Given the description of an element on the screen output the (x, y) to click on. 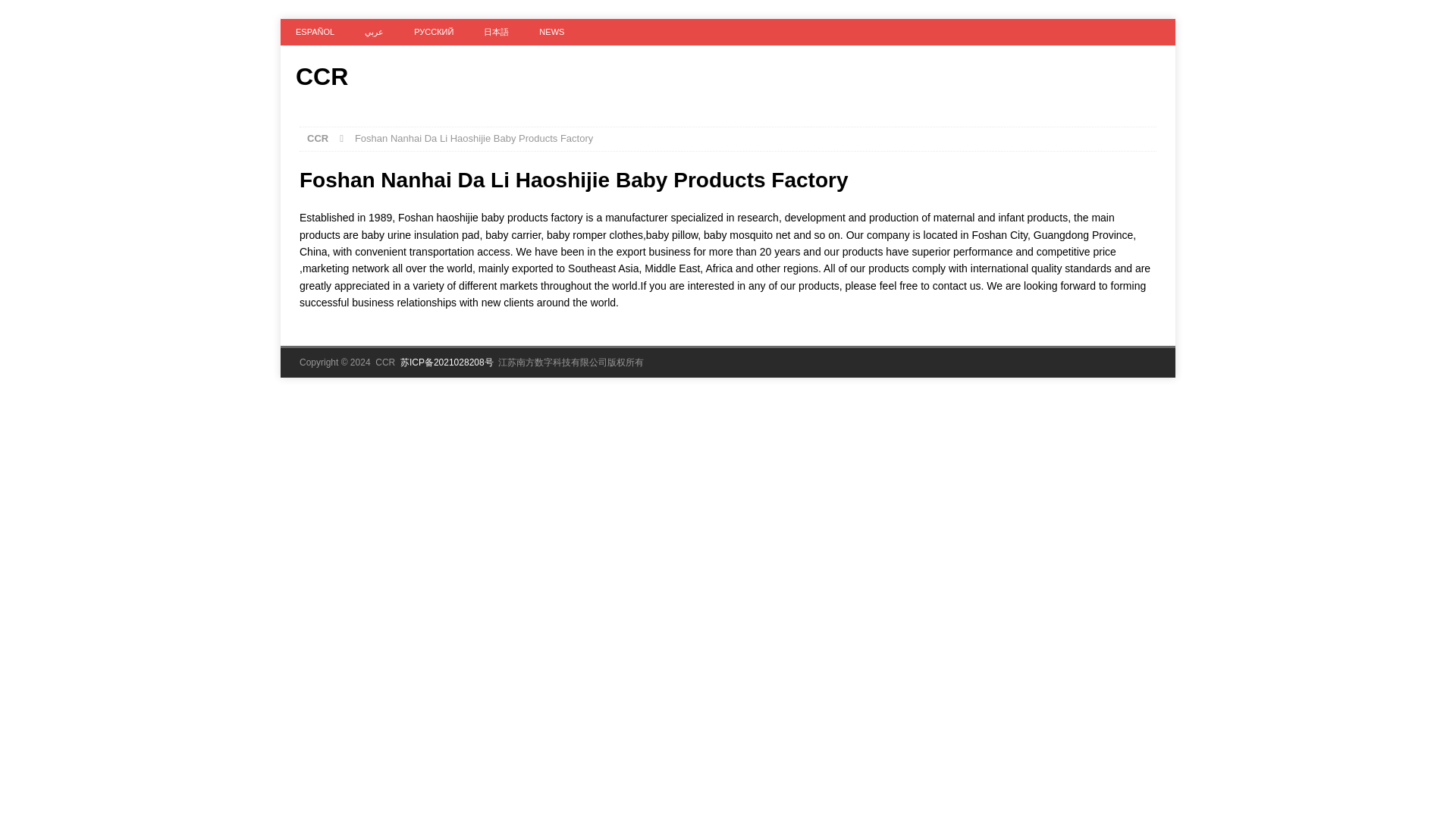
NEWS (551, 31)
CCR (318, 138)
CCR (727, 76)
CCR (727, 76)
